Given the description of an element on the screen output the (x, y) to click on. 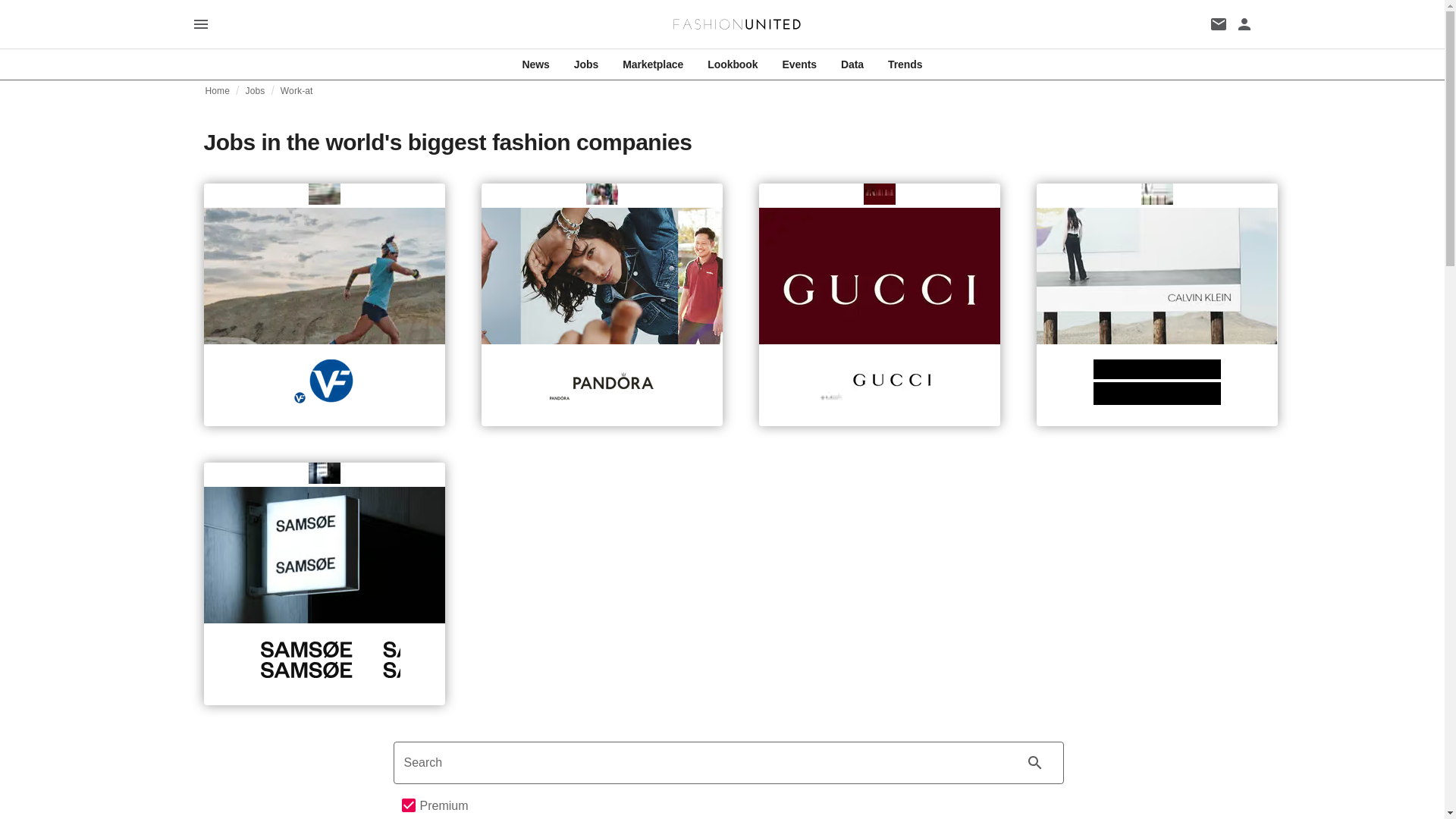
Work-at (297, 90)
Jobs (586, 64)
PANDORA Germany (601, 381)
PVH (1155, 277)
Events (799, 64)
Lookbook (732, 64)
GUCCI (878, 277)
PVH (1157, 381)
VF (323, 277)
News (536, 64)
GUCCI (879, 381)
Marketplace (652, 64)
Home (217, 90)
Jobs (255, 90)
PANDORA Germany (601, 277)
